Given the description of an element on the screen output the (x, y) to click on. 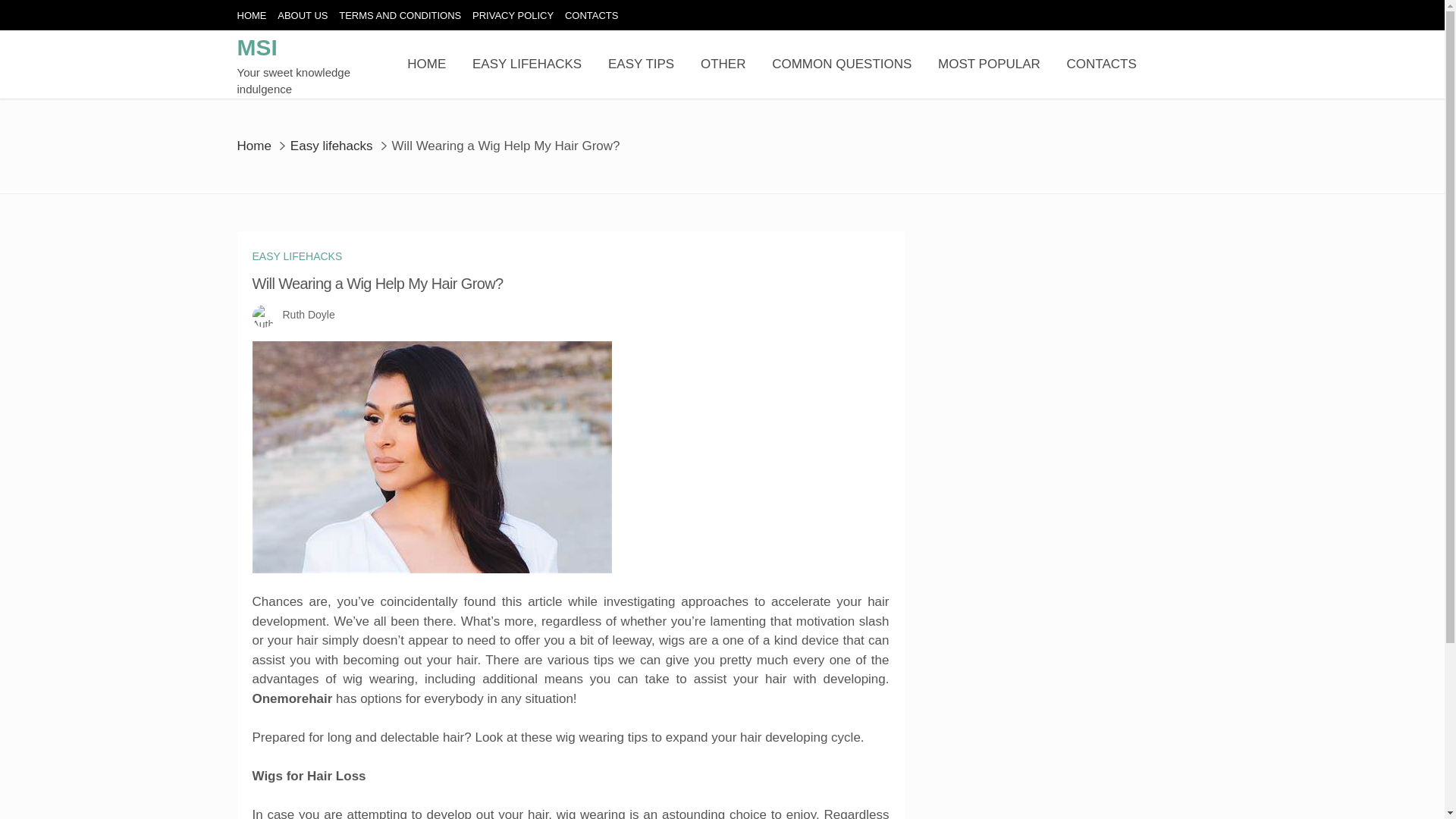
CONTACTS (591, 15)
Ruth Doyle (308, 314)
HOME (250, 15)
ABOUT US (302, 15)
MSI (255, 47)
EASY TIPS (641, 64)
MOST POPULAR (989, 64)
Home (252, 145)
PRIVACY POLICY (512, 15)
COMMON QUESTIONS (841, 64)
EASY LIFEHACKS (296, 256)
CONTACTS (1102, 64)
Easy lifehacks (330, 145)
Will Wearing a Wig Help My Hair Grow? (431, 457)
EASY LIFEHACKS (525, 64)
